Given the description of an element on the screen output the (x, y) to click on. 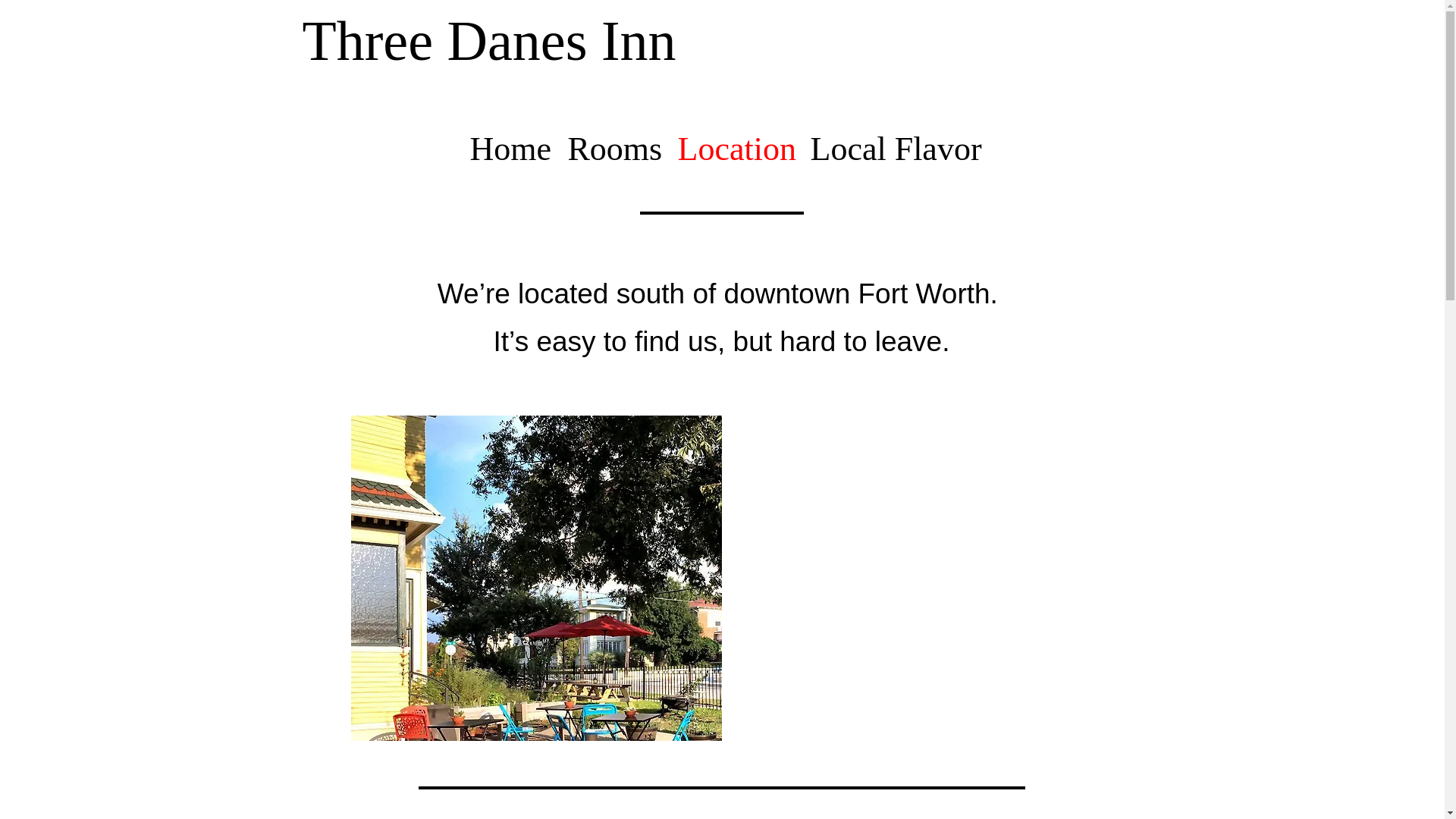
Rooms (614, 149)
Local Flavor (890, 149)
Location (736, 149)
Three Danes Inn (488, 40)
Home (511, 149)
